Given the description of an element on the screen output the (x, y) to click on. 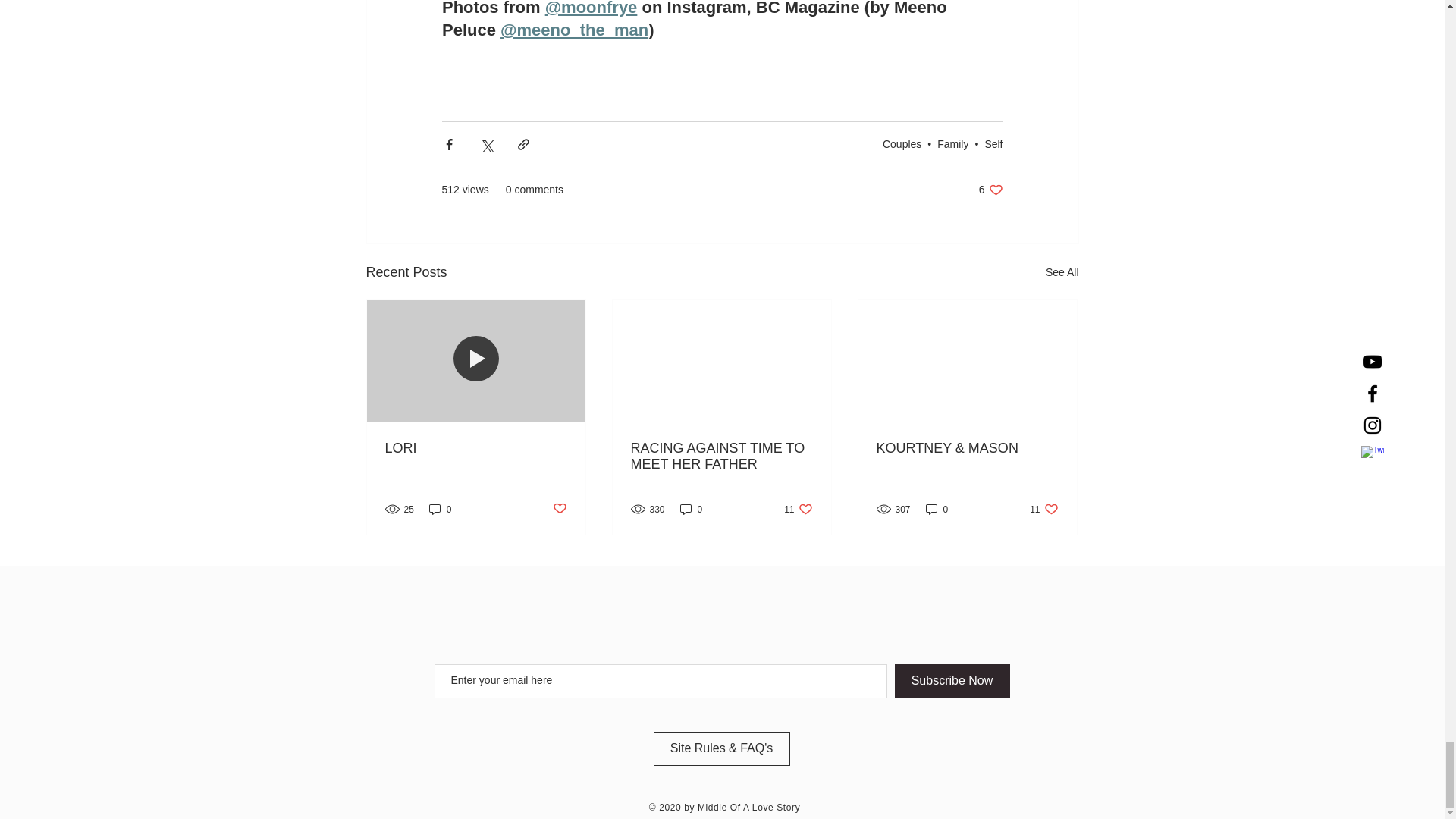
Family (990, 189)
LORI (952, 143)
Post not marked as liked (476, 448)
Self (558, 508)
See All (993, 143)
0 (1061, 272)
Couples (440, 509)
